Given the description of an element on the screen output the (x, y) to click on. 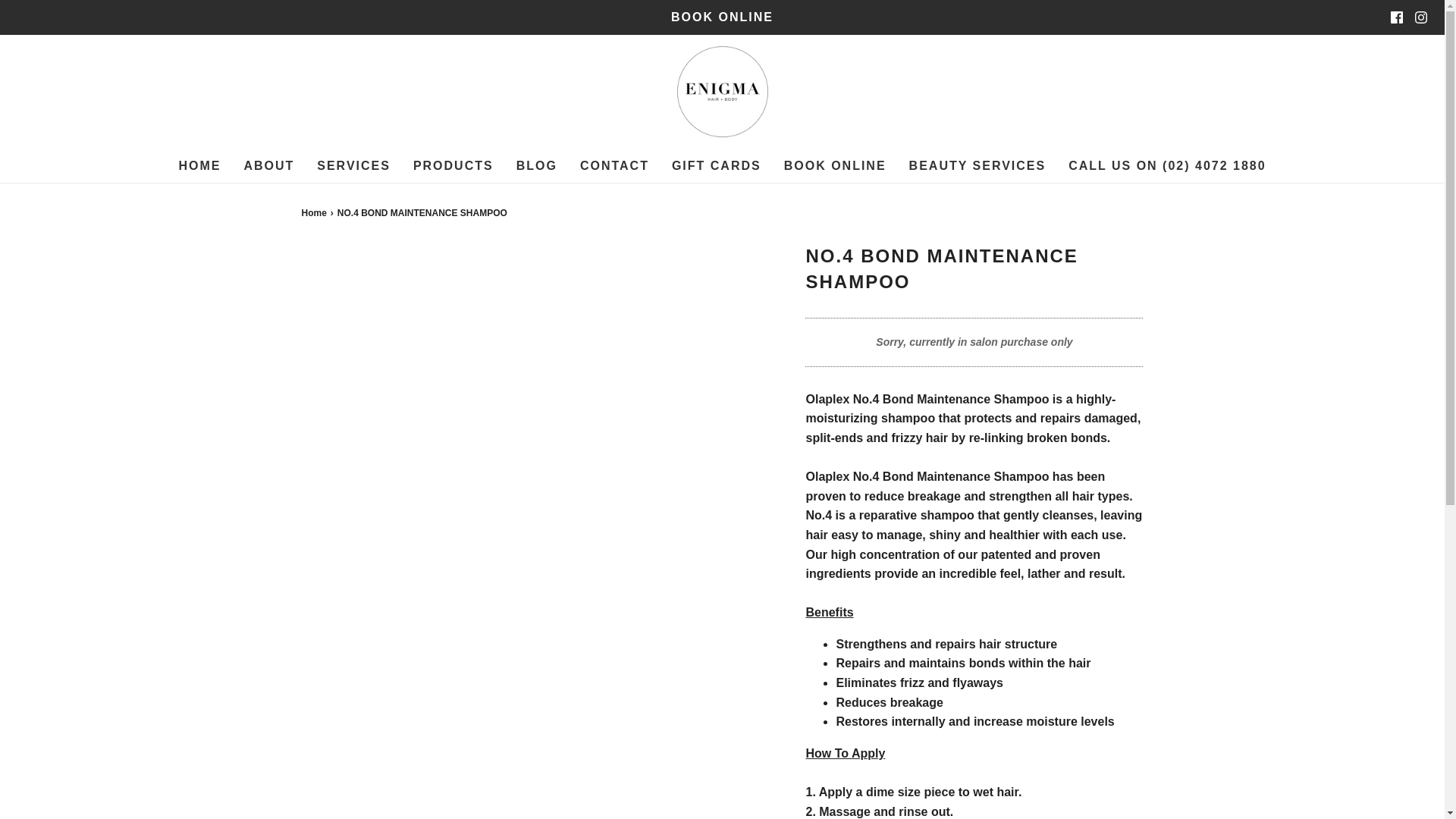
PRODUCTS (453, 165)
ABOUT (268, 165)
FACEBOOK ICON (1396, 17)
INSTAGRAM ICON (1420, 17)
SERVICES (353, 165)
FACEBOOK ICON (1396, 17)
Back to the frontpage (315, 213)
INSTAGRAM ICON (1420, 17)
BOOK ONLINE (721, 16)
HOME (199, 165)
